Given the description of an element on the screen output the (x, y) to click on. 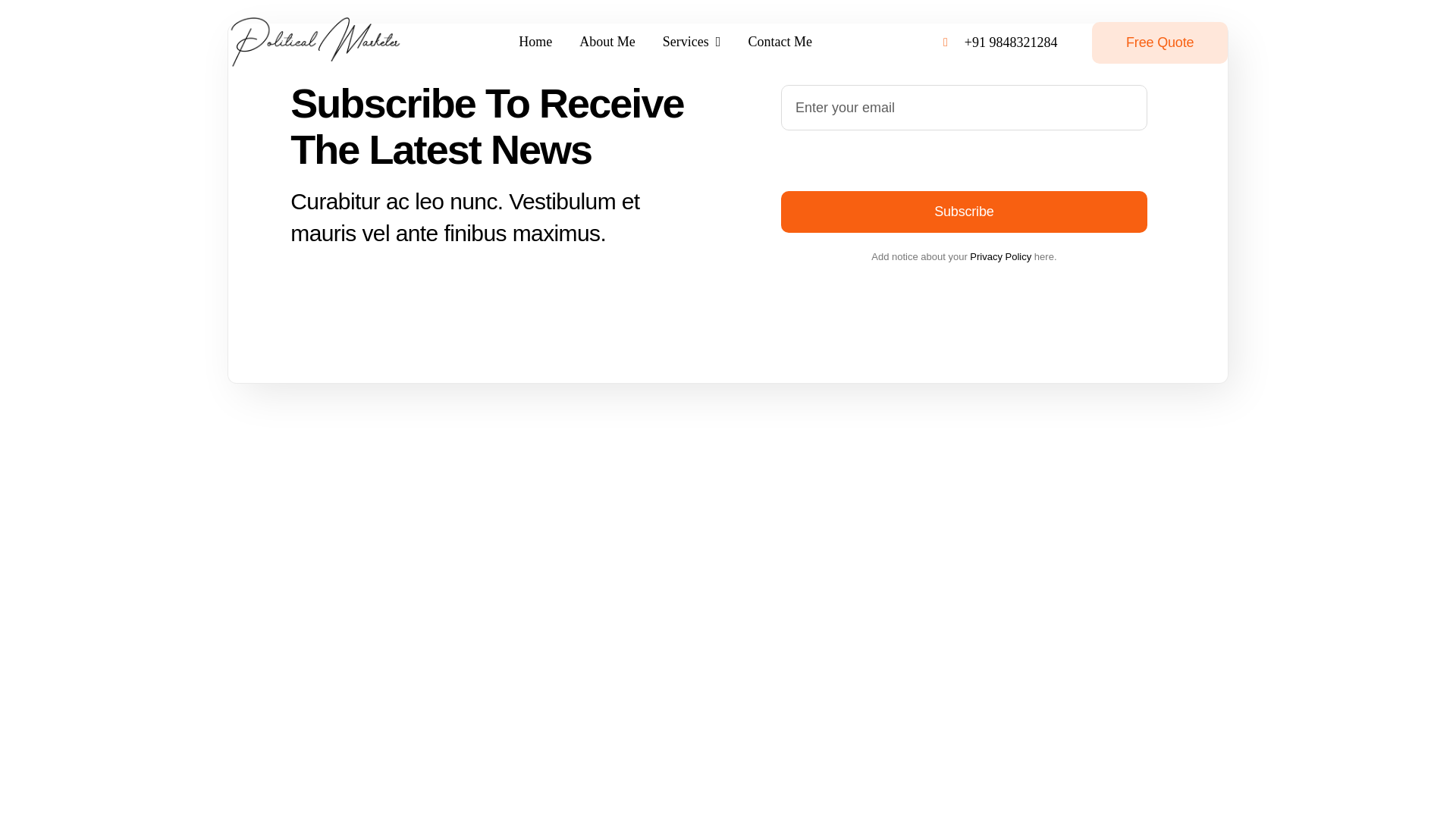
Subscribe (963, 158)
Subscribe (963, 211)
Privacy Policy (999, 256)
